Given the description of an element on the screen output the (x, y) to click on. 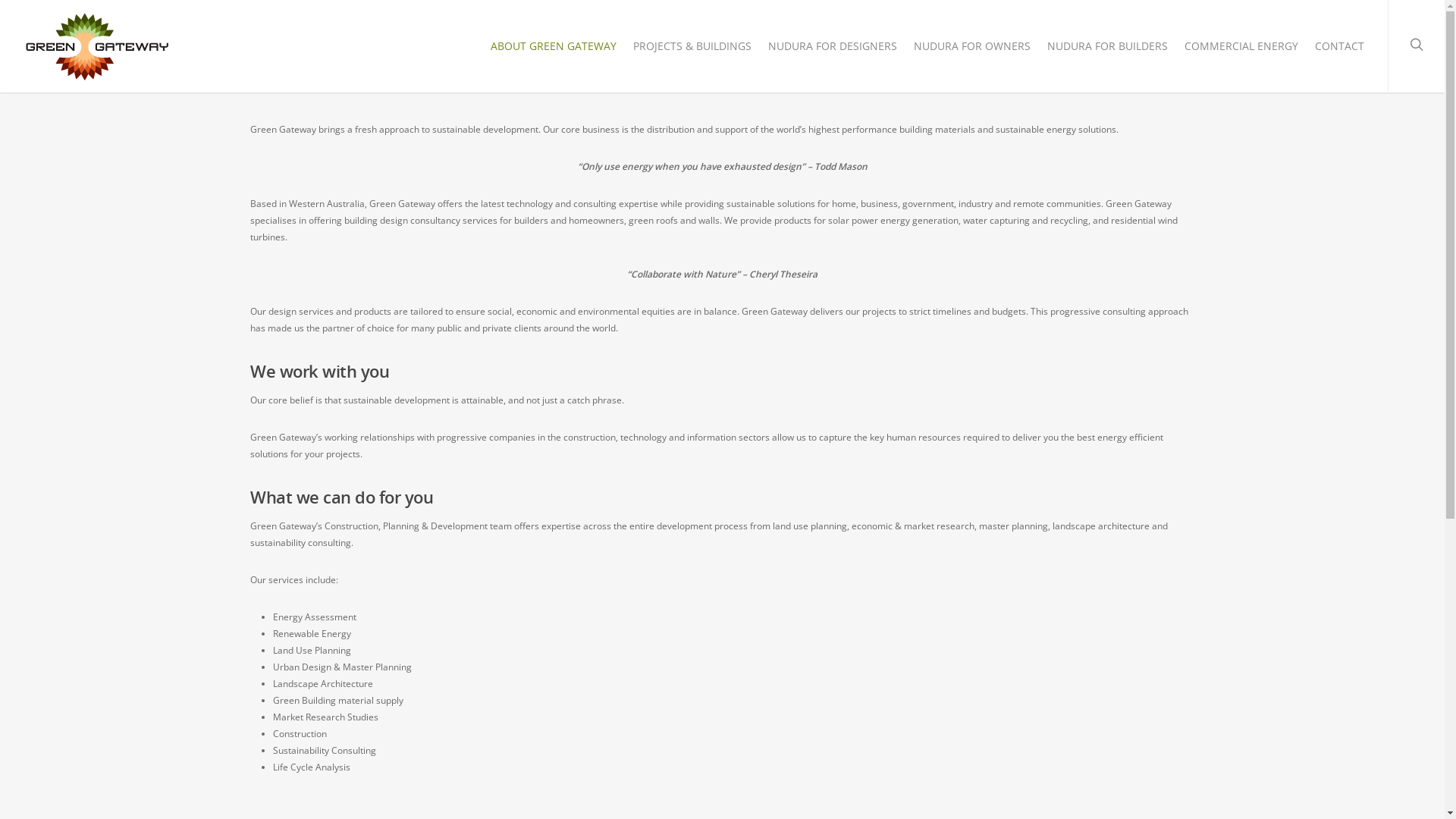
CONTACT Element type: text (1339, 49)
ABOUT GREEN GATEWAY Element type: text (553, 49)
NUDURA FOR OWNERS Element type: text (972, 49)
NUDURA FOR DESIGNERS Element type: text (832, 49)
COMMERCIAL ENERGY Element type: text (1240, 49)
NUDURA FOR BUILDERS Element type: text (1107, 49)
PROJECTS & BUILDINGS Element type: text (692, 49)
